Given the description of an element on the screen output the (x, y) to click on. 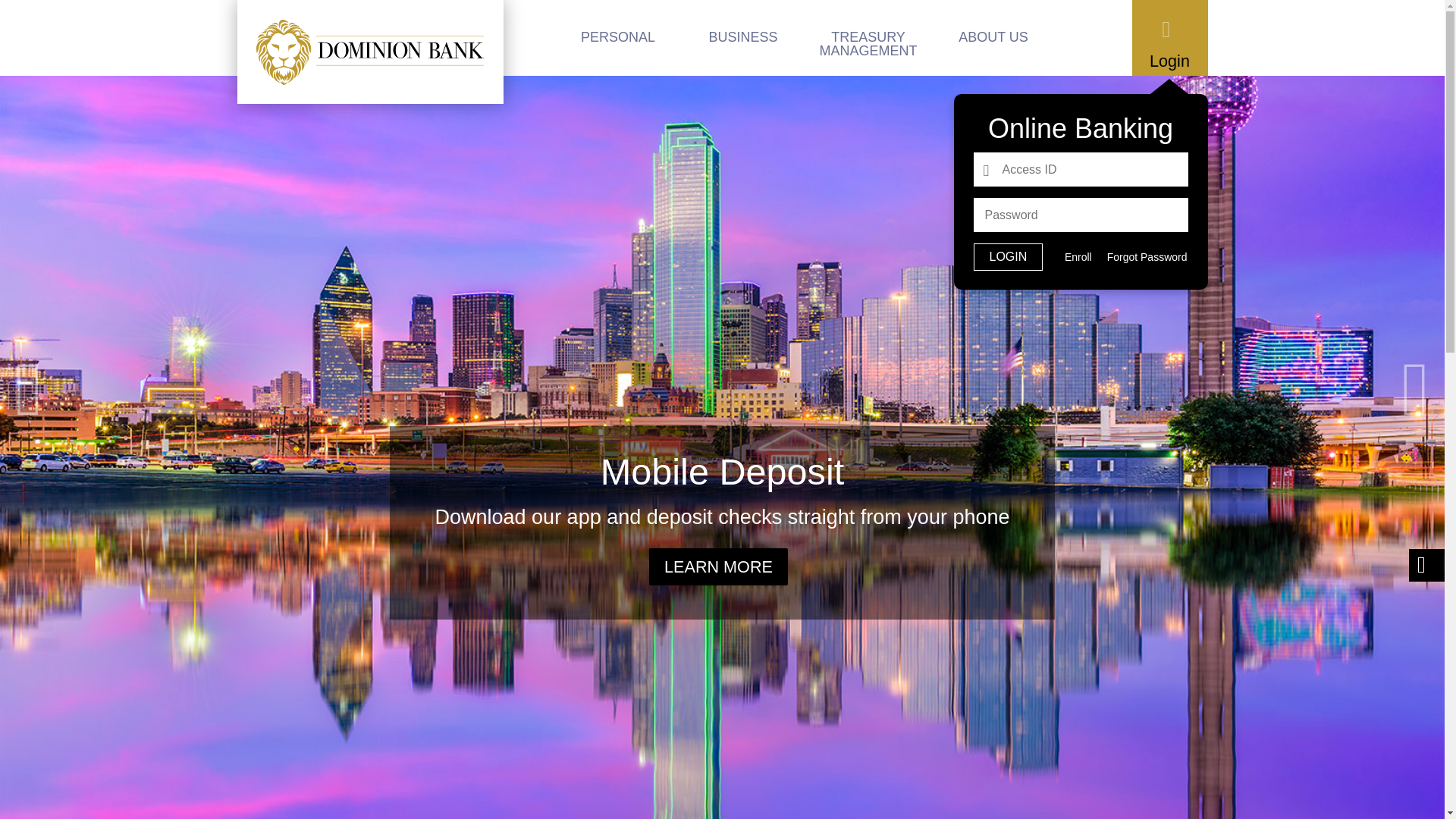
Enroll (1078, 257)
BUSINESS (743, 38)
ABOUT US (994, 38)
PERSONAL (616, 38)
TREASURY MANAGEMENT (867, 38)
Login (1008, 257)
Forgot Password (1147, 257)
Login (1008, 257)
Login (1169, 38)
